Given the description of an element on the screen output the (x, y) to click on. 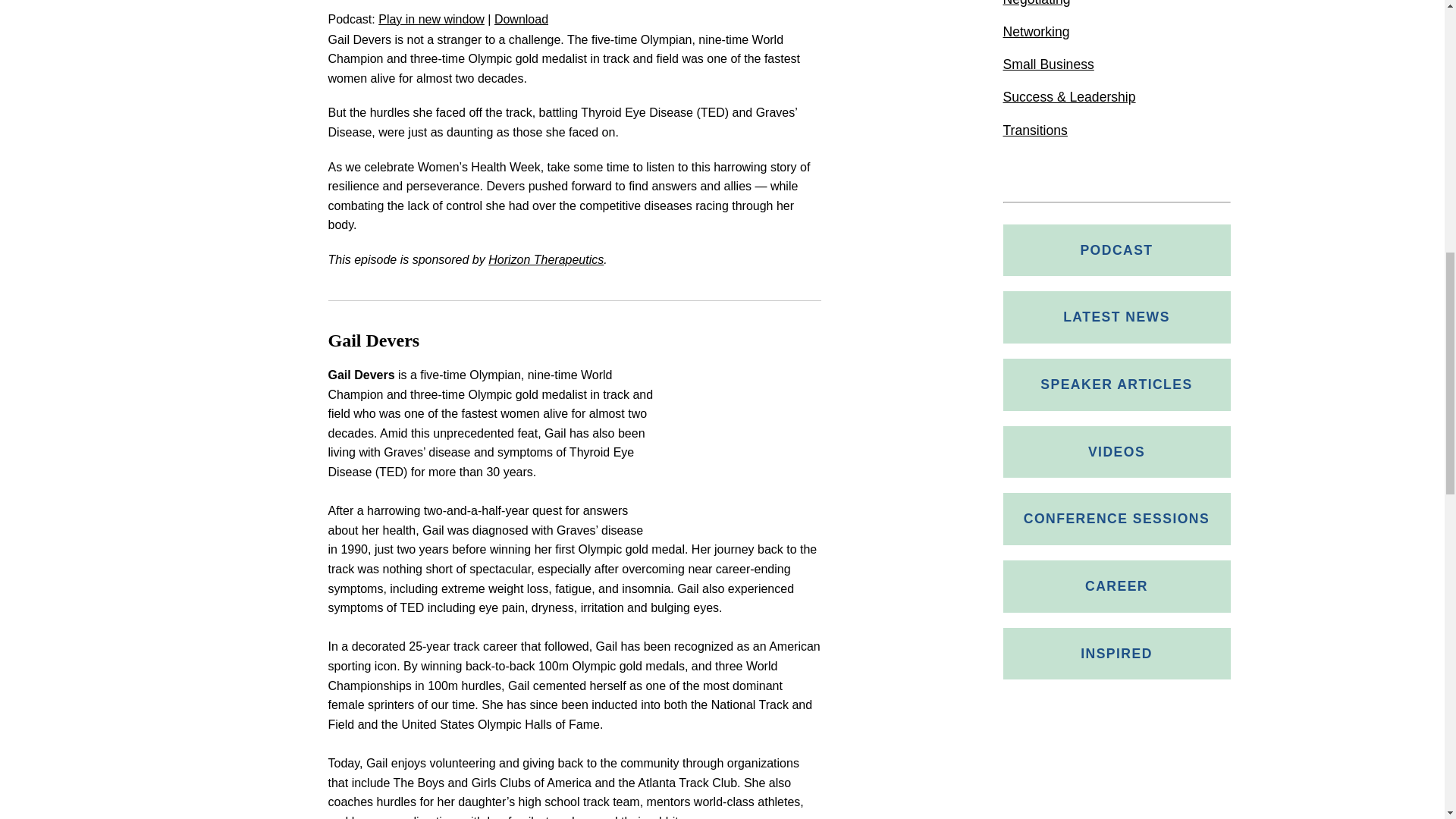
Play in new window (431, 19)
Play in new window (431, 19)
Download (521, 19)
